Given the description of an element on the screen output the (x, y) to click on. 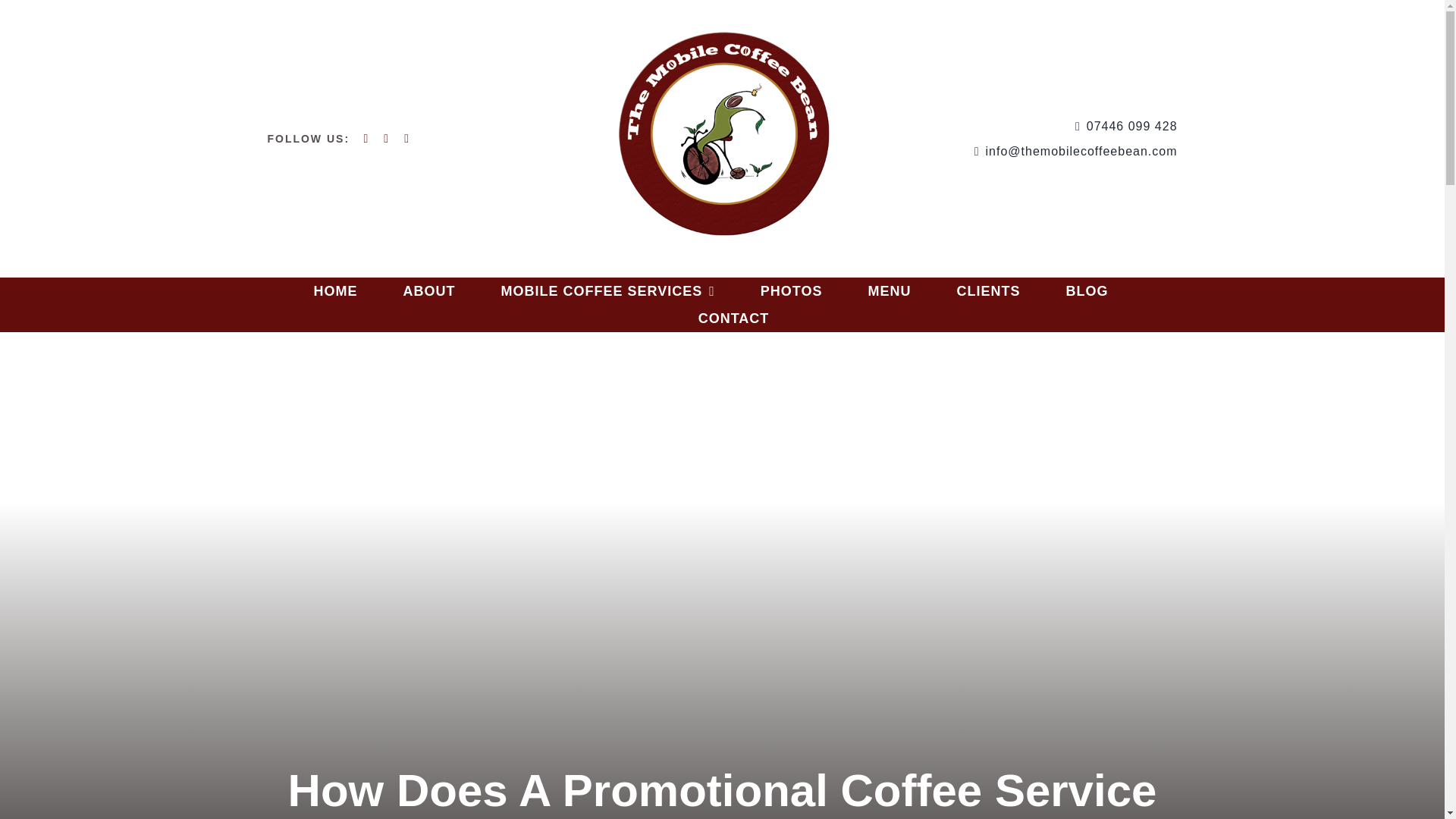
CONTACT (734, 318)
X (406, 138)
ABOUT (429, 290)
BLOG (1086, 290)
HOME (336, 290)
MENU (889, 290)
CLIENTS (988, 290)
Facebook (386, 138)
PHOTOS (791, 290)
MOBILE COFFEE SERVICES (607, 290)
Instagram (365, 138)
07446 099 428 (1029, 127)
